Given the description of an element on the screen output the (x, y) to click on. 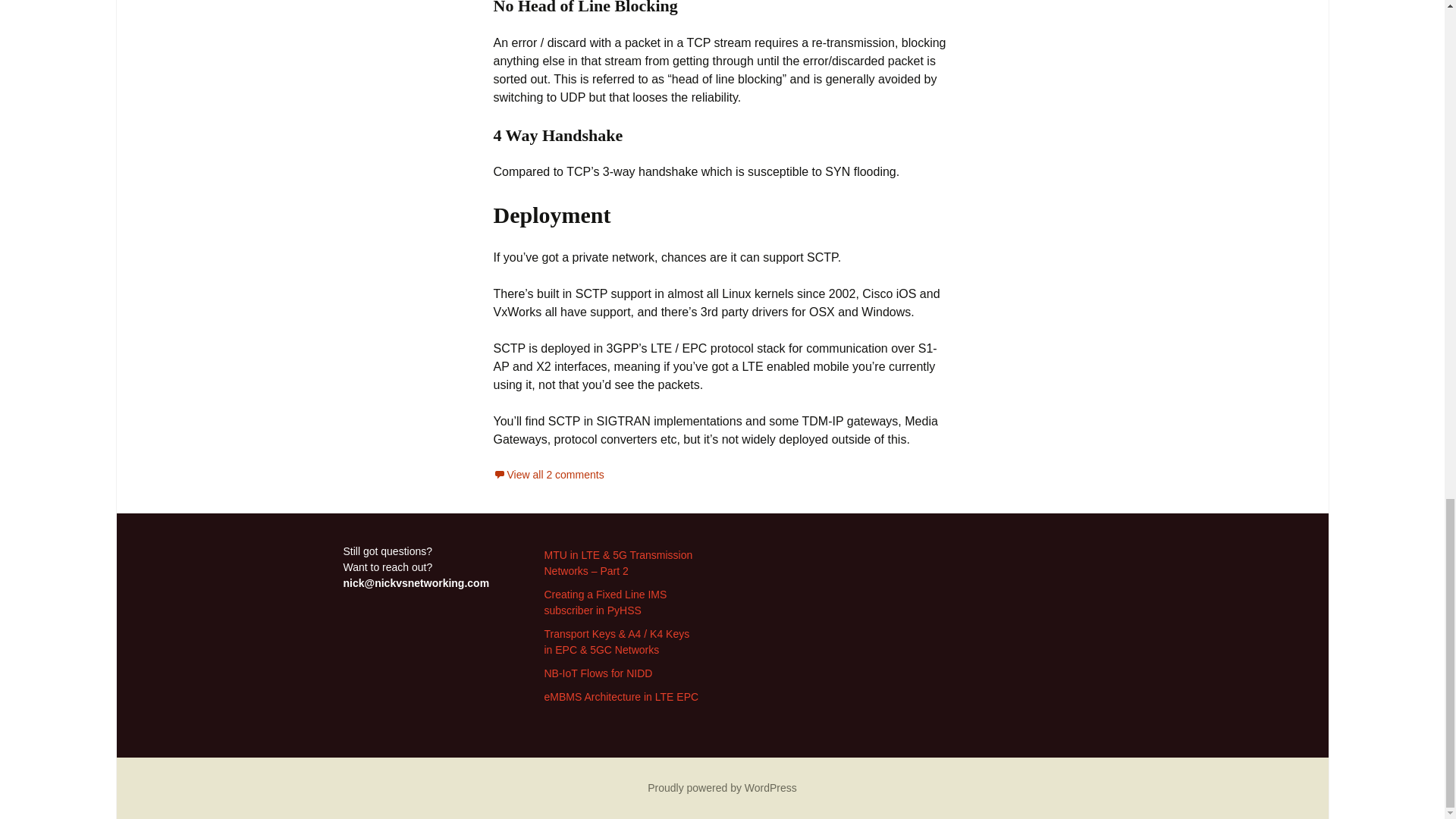
NB-IoT Flows for NIDD (598, 673)
View all 2 comments (548, 474)
eMBMS Architecture in LTE EPC (621, 696)
Proudly powered by WordPress (721, 787)
Creating a Fixed Line IMS subscriber in PyHSS (605, 602)
